Given the description of an element on the screen output the (x, y) to click on. 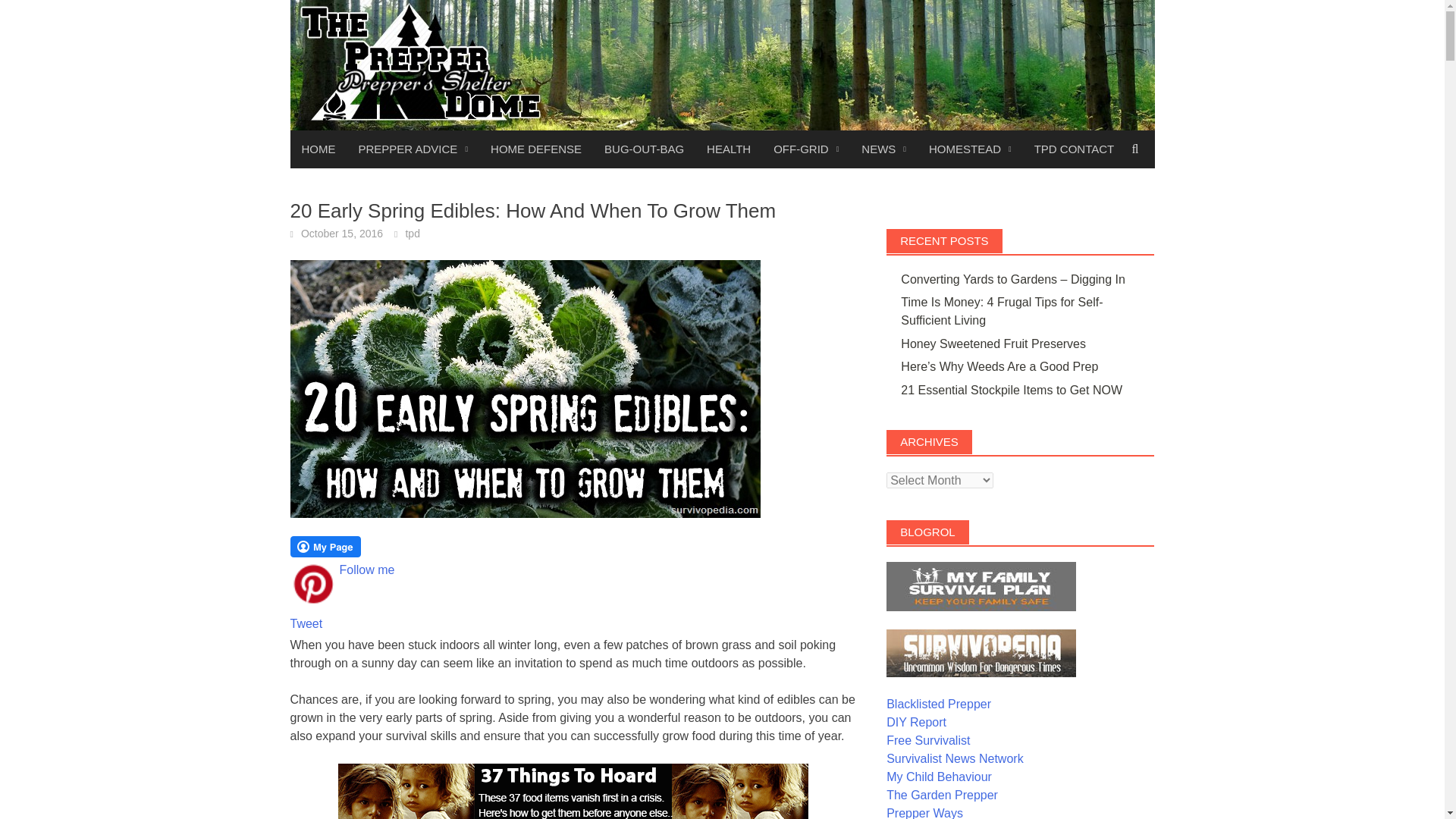
Tweet (305, 623)
HOME (317, 149)
HOMESTEAD (970, 149)
TPD CONTACT (1074, 149)
PREPPER ADVICE (413, 149)
October 15, 2016 (341, 233)
HOME DEFENSE (535, 149)
OFF-GRID (805, 149)
NEWS (883, 149)
HEALTH (728, 149)
BUG-OUT-BAG (643, 149)
Follow me (366, 569)
tpd (411, 233)
